Given the description of an element on the screen output the (x, y) to click on. 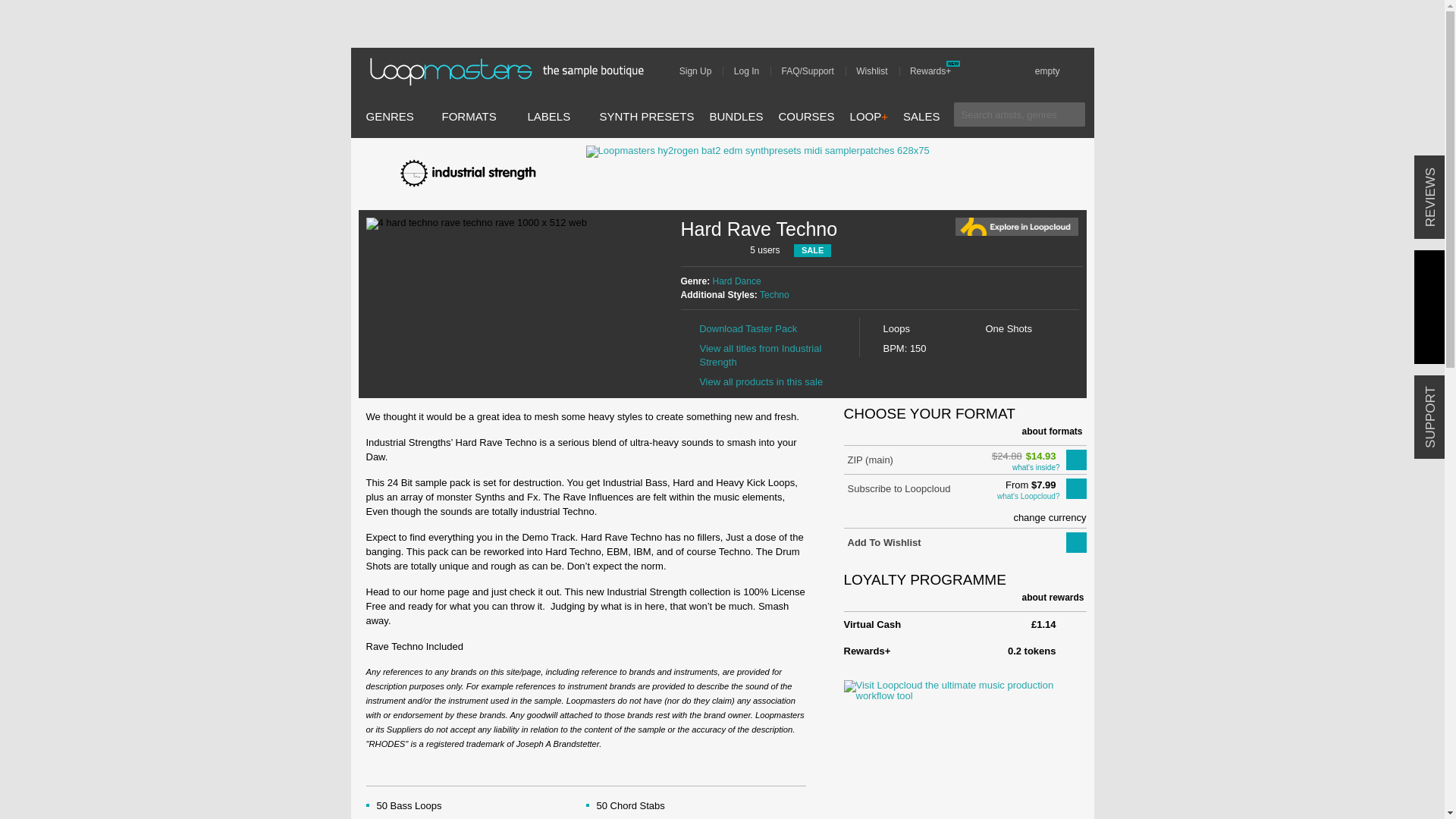
Wishlist (877, 71)
Wishlist (877, 71)
Log In (752, 71)
Sign Up (701, 71)
GENRES (389, 115)
Log In (752, 71)
Support and frequently questioned answers (812, 71)
Loopmasters - the sample boutique (511, 71)
Sign Up (701, 71)
Show all genres (389, 115)
